Given the description of an element on the screen output the (x, y) to click on. 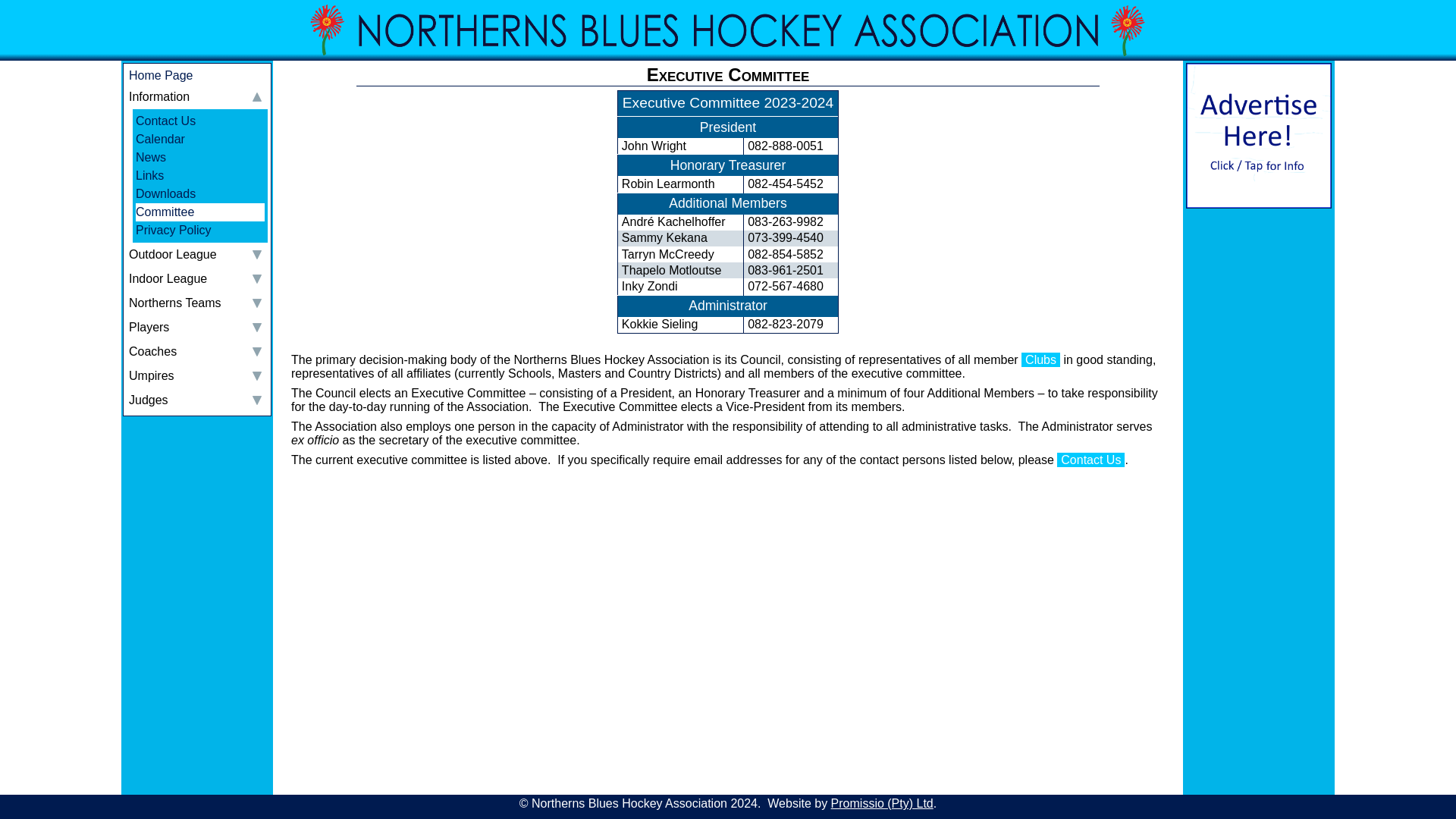
News (199, 157)
Committee (199, 212)
Contact Us (199, 121)
Contact Us (1090, 459)
Clubs (1040, 359)
Links (199, 176)
Calendar (199, 139)
Privacy Policy (199, 230)
Downloads (199, 194)
Home Page (198, 75)
